Given the description of an element on the screen output the (x, y) to click on. 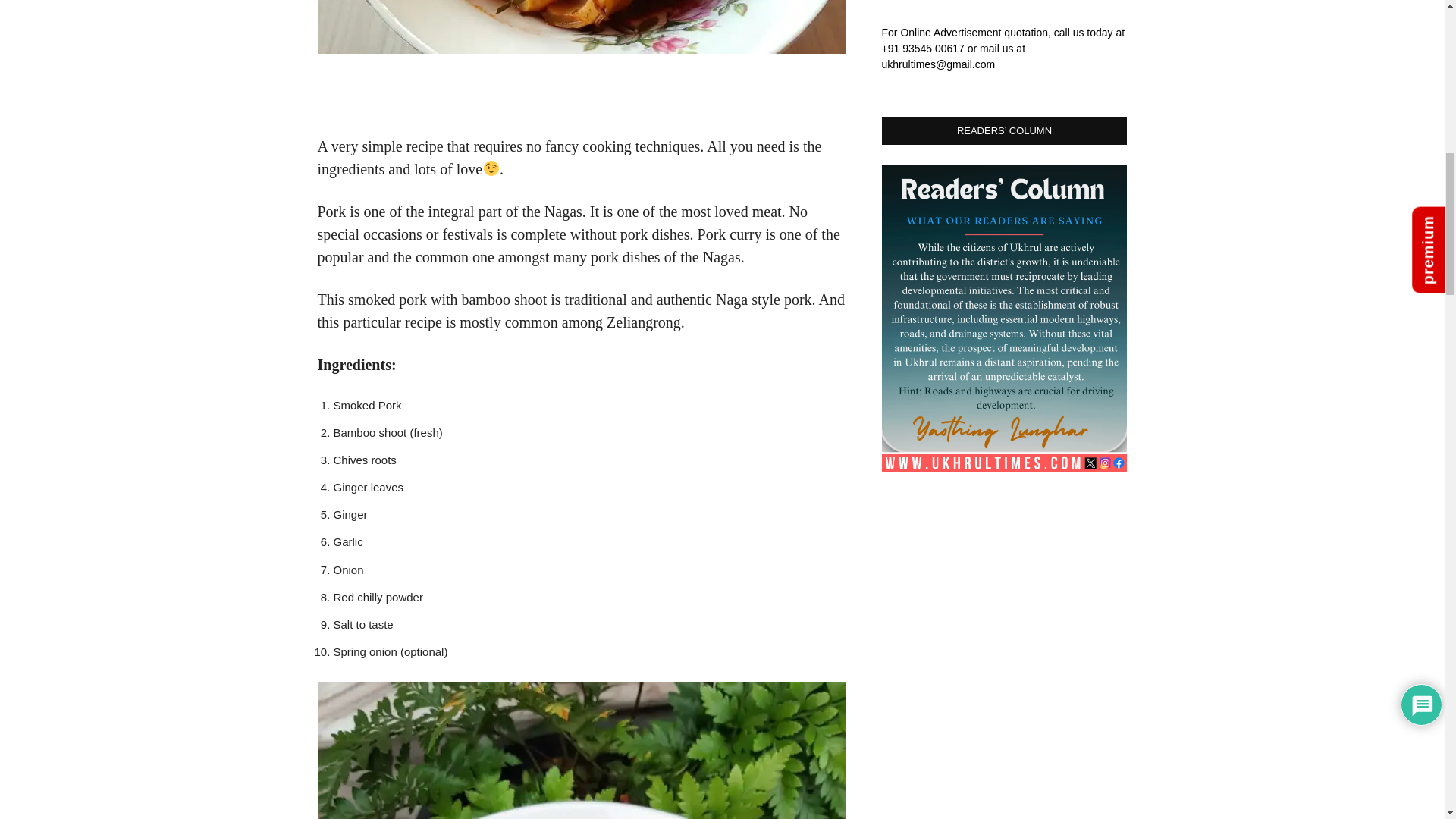
pork with bamboo shoot (580, 27)
